Given the description of an element on the screen output the (x, y) to click on. 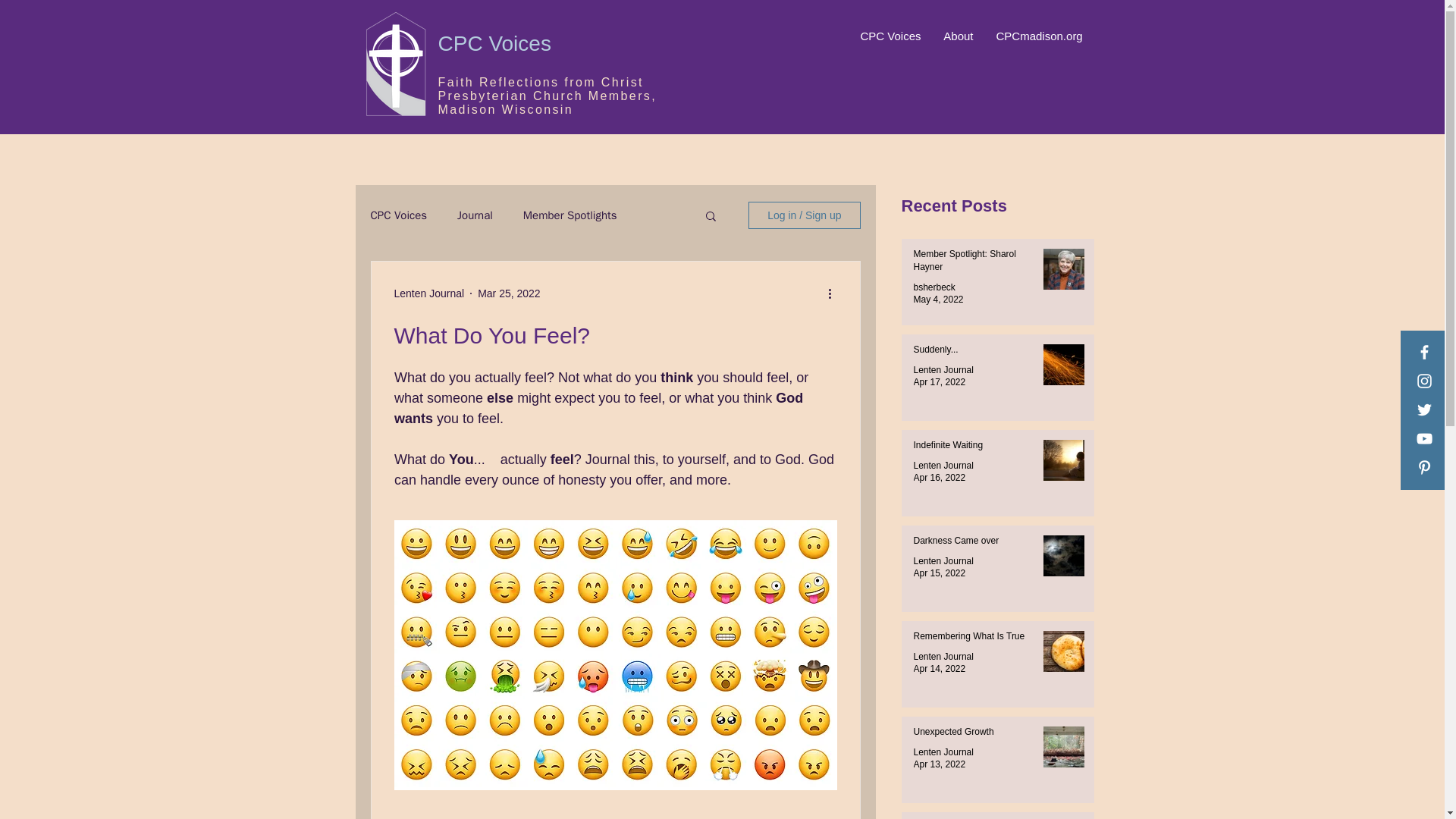
Apr 17, 2022 (938, 381)
Indefinite Waiting (970, 447)
May 4, 2022 (937, 299)
Apr 16, 2022 (938, 477)
Lenten Journal (942, 561)
Lenten Journal (942, 751)
Apr 15, 2022 (938, 573)
Unexpected Growth (970, 734)
Lenten Journal (942, 465)
bsherbeck (933, 286)
About (957, 36)
Apr 14, 2022 (938, 668)
CPC Voices (889, 36)
Journal (475, 214)
Apr 13, 2022 (938, 764)
